Given the description of an element on the screen output the (x, y) to click on. 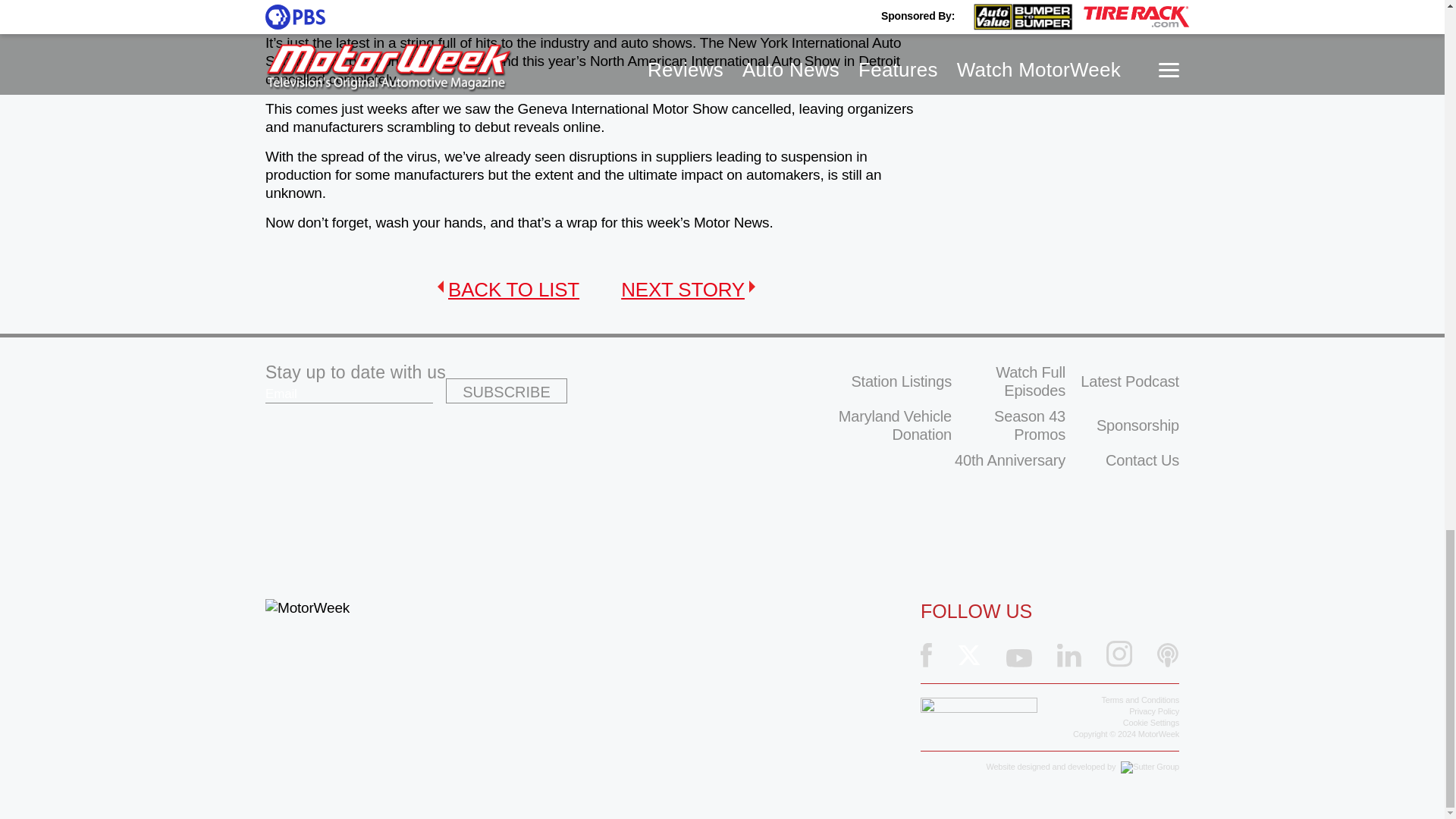
MotorWeek (306, 607)
Sutter Group (1150, 767)
BACK TO LIST (507, 289)
Subscribe (506, 390)
